Given the description of an element on the screen output the (x, y) to click on. 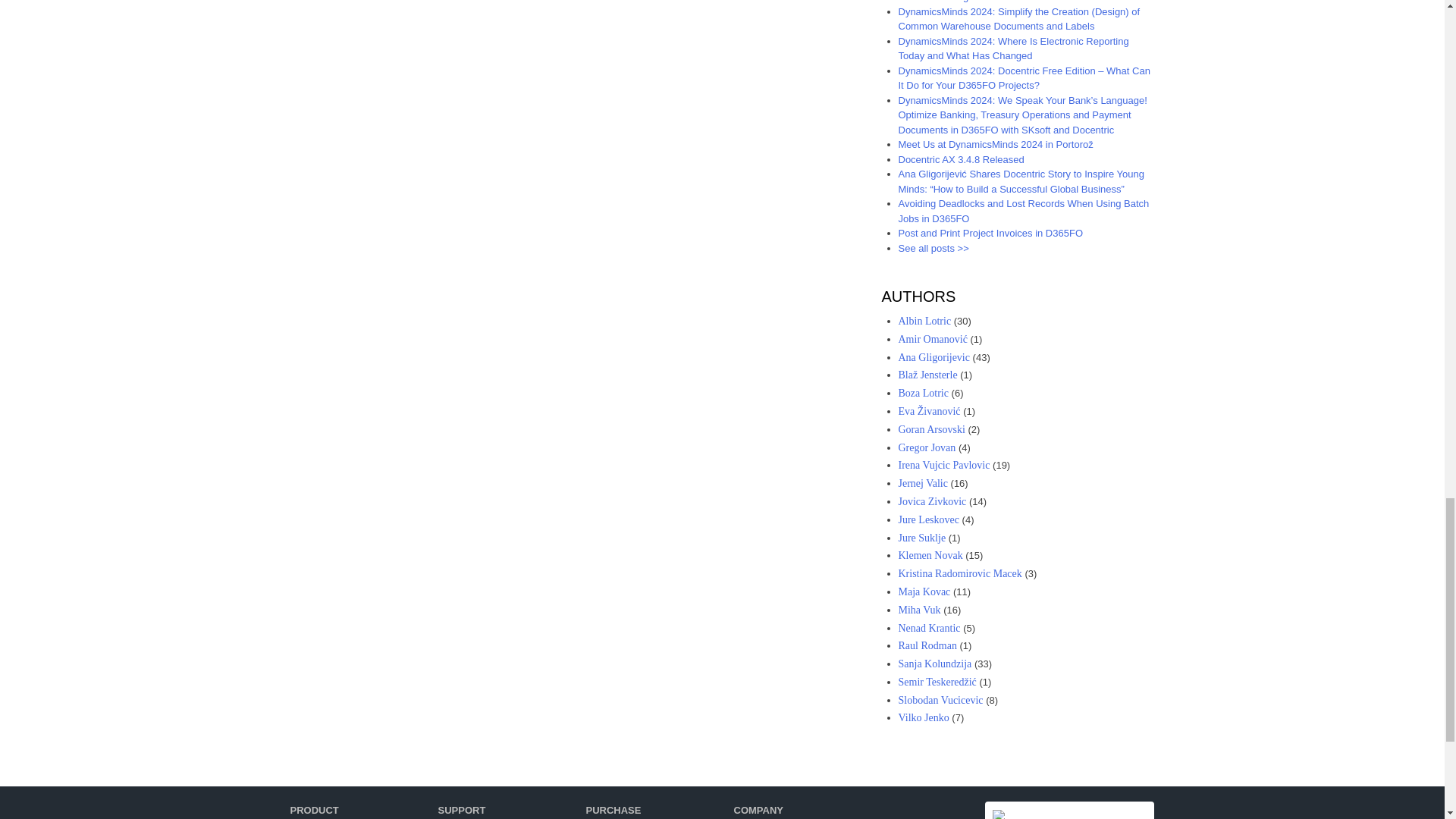
Posts by Goran Arsovski (930, 429)
Posts by Boza Lotric (922, 392)
Posts by Gregor Jovan (926, 447)
Posts by Irena Vujcic Pavlovic (944, 464)
Posts by Ana Gligorijevic (933, 357)
Posts by Albin Lotric (924, 320)
